Given the description of an element on the screen output the (x, y) to click on. 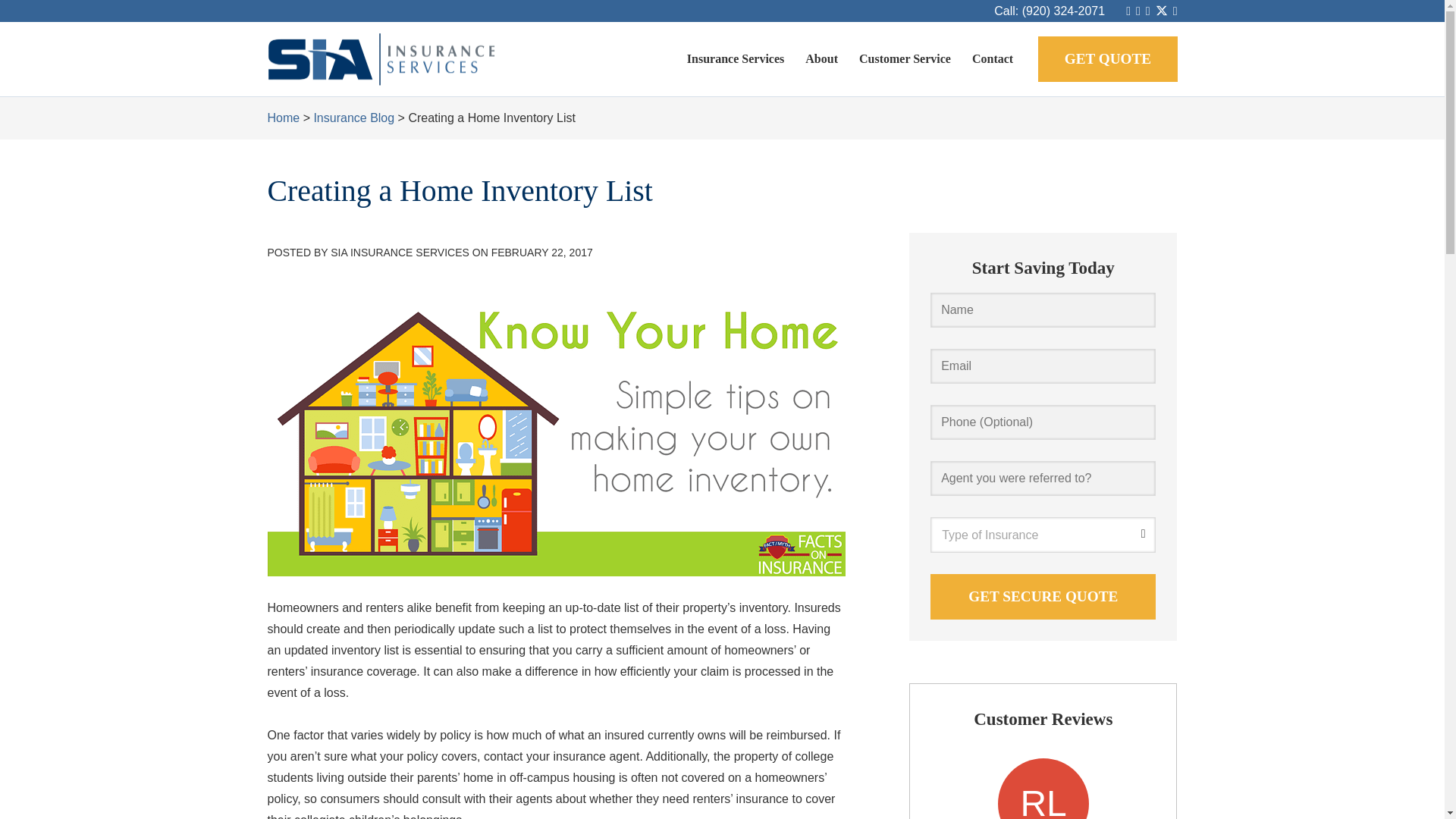
Get Secure Quote (1043, 596)
SIA Logo (380, 58)
X (1161, 10)
Insurance Services (735, 58)
Facebook (1147, 10)
Home Page (411, 58)
LinkedIn (1175, 10)
Yelp (1137, 10)
Google Maps (1128, 10)
